Given the description of an element on the screen output the (x, y) to click on. 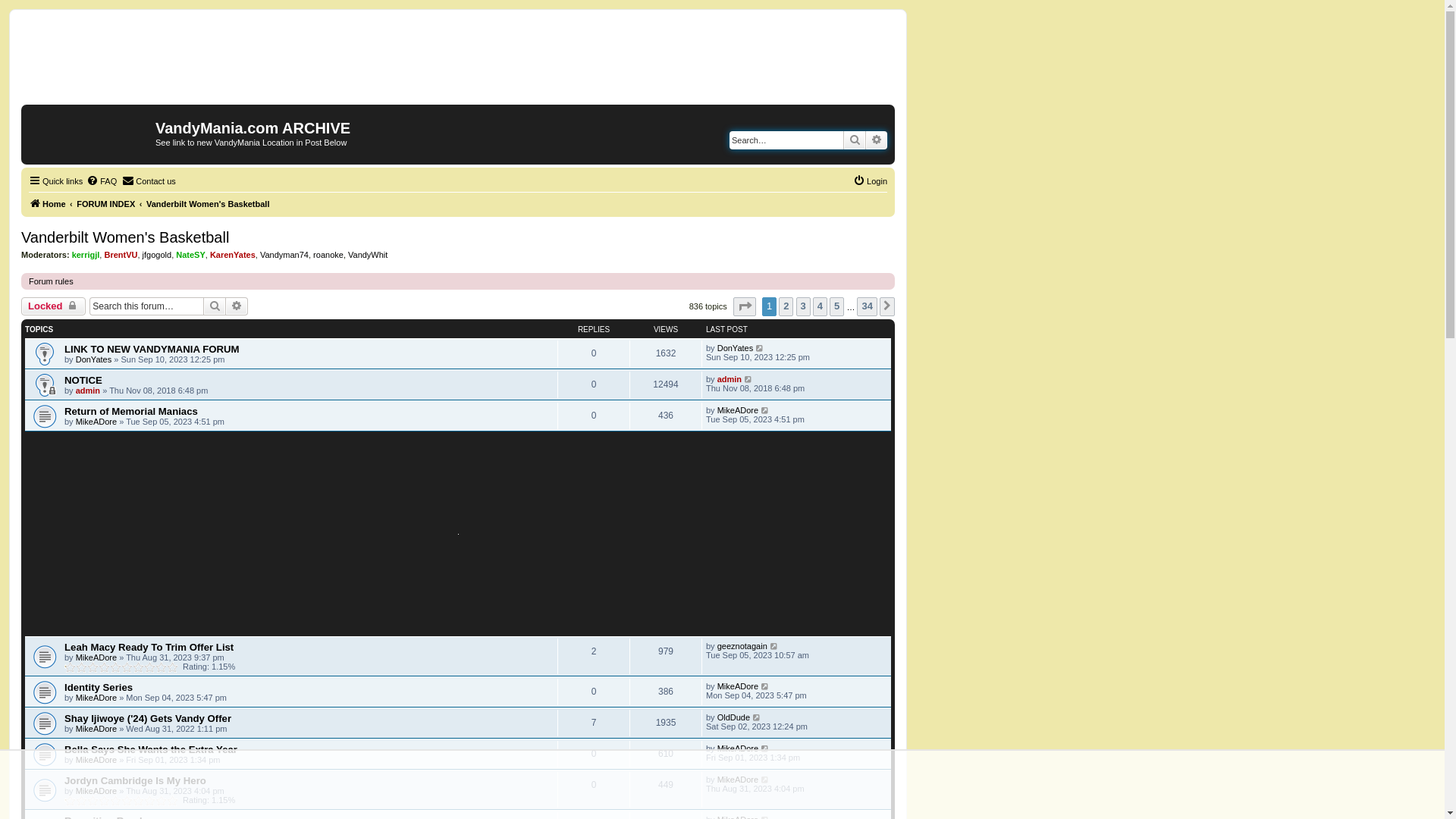
admin Element type: text (729, 378)
Jordyn Cambridge Is My Hero Element type: text (135, 780)
geeznotagain Element type: text (742, 645)
Go to last post Element type: hover (774, 645)
4 Element type: text (819, 306)
Search for keywords Element type: hover (786, 140)
MikeADore Element type: text (95, 657)
5 Element type: text (836, 306)
Login Element type: text (870, 181)
NOTICE Element type: text (83, 379)
Vanderbilt Women's Basketball Element type: text (207, 203)
MikeADore Element type: text (95, 697)
Advanced search Element type: text (876, 140)
BrentVU Element type: text (120, 254)
Go to last post Element type: hover (748, 378)
MikeADore Element type: text (95, 790)
MikeADore Element type: text (95, 421)
Go to last post Element type: hover (765, 685)
Go to last post Element type: hover (757, 716)
Forum rules Element type: text (50, 280)
OldDude Element type: text (733, 716)
Advanced search Element type: text (236, 306)
Home Element type: hover (90, 132)
Next Element type: text (886, 306)
Page of Element type: text (744, 306)
LINK TO NEW VANDYMANIA FORUM Element type: text (151, 348)
Bella Says She Wants the Extra Year Element type: text (150, 749)
Go to last post Element type: hover (765, 748)
Vandyman74 Element type: text (284, 254)
Identity Series Element type: text (98, 687)
2 Element type: text (785, 306)
Contact us Element type: text (148, 181)
Home Element type: text (46, 203)
DonYates Element type: text (93, 359)
Leah Macy Ready To Trim Offer List Element type: text (148, 646)
KarenYates Element type: text (232, 254)
Go to last post Element type: hover (765, 409)
MikeADore Element type: text (95, 759)
34 Element type: text (866, 306)
admin Element type: text (87, 390)
kerrigjl Element type: text (86, 254)
MikeADore Element type: text (95, 728)
Go to last post Element type: hover (760, 347)
Search Element type: text (214, 306)
Shay Ijiwoye ('24) Gets Vandy Offer Element type: text (147, 718)
3rd party ad content Element type: hover (458, 533)
Search Element type: text (854, 140)
roanoke Element type: text (328, 254)
Vanderbilt Women's Basketball Element type: text (125, 237)
Locked Element type: text (53, 306)
FORUM INDEX Element type: text (105, 203)
MikeADore Element type: text (737, 748)
FAQ Element type: text (101, 181)
3rd party ad content Element type: hover (458, 62)
3 Element type: text (803, 306)
Go to last post Element type: hover (765, 779)
MikeADore Element type: text (737, 685)
MikeADore Element type: text (737, 779)
Return of Memorial Maniacs Element type: text (130, 411)
DonYates Element type: text (735, 347)
MikeADore Element type: text (737, 409)
NateSY Element type: text (190, 254)
jfgogold Element type: text (157, 254)
Quick links Element type: text (55, 181)
VandyWhit Element type: text (367, 254)
